Given the description of an element on the screen output the (x, y) to click on. 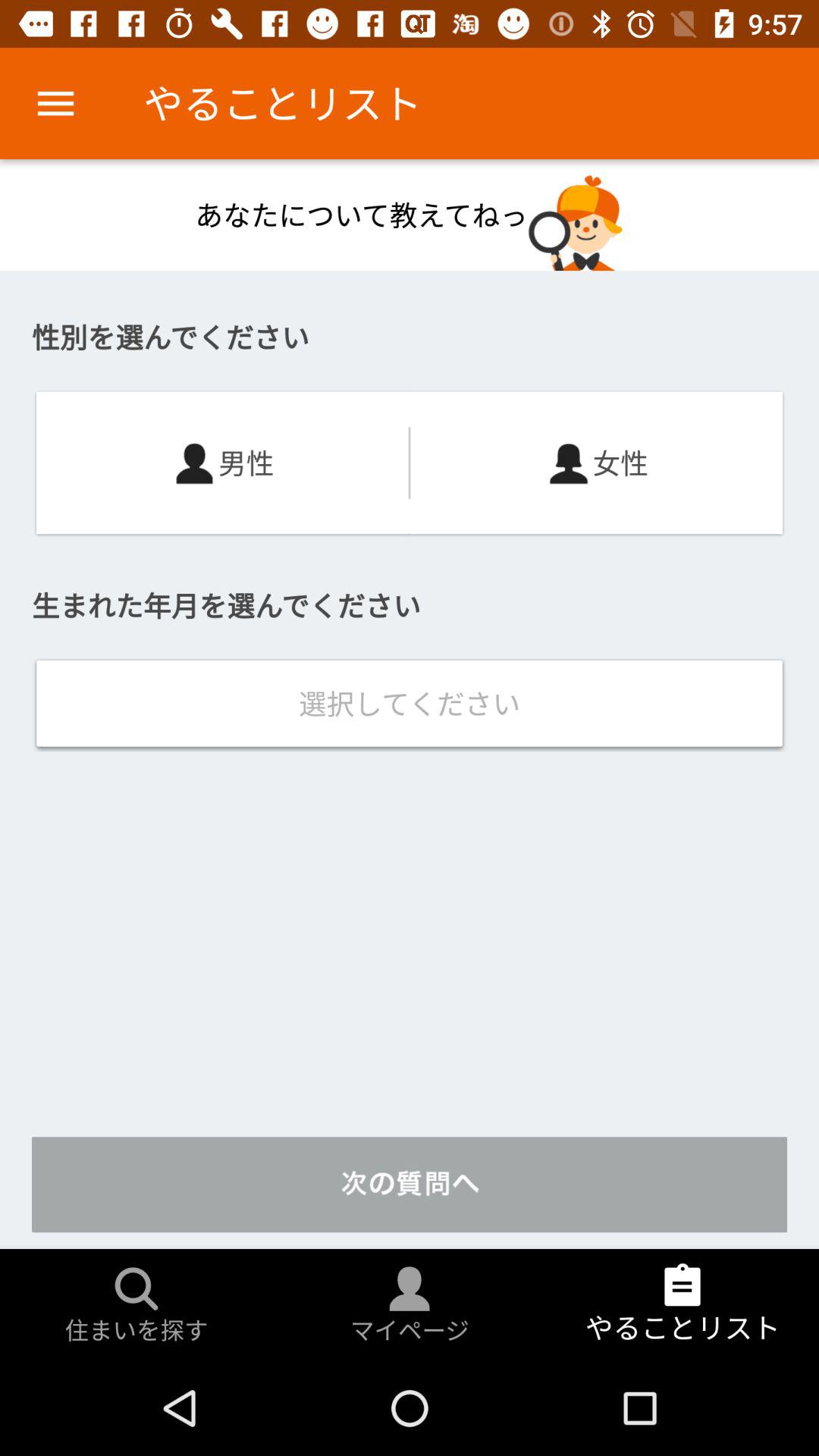
select the female profile icon (568, 462)
select the text which is just above the search icon (409, 1184)
click on the profile icon which is right to search icon (409, 1289)
